Given the description of an element on the screen output the (x, y) to click on. 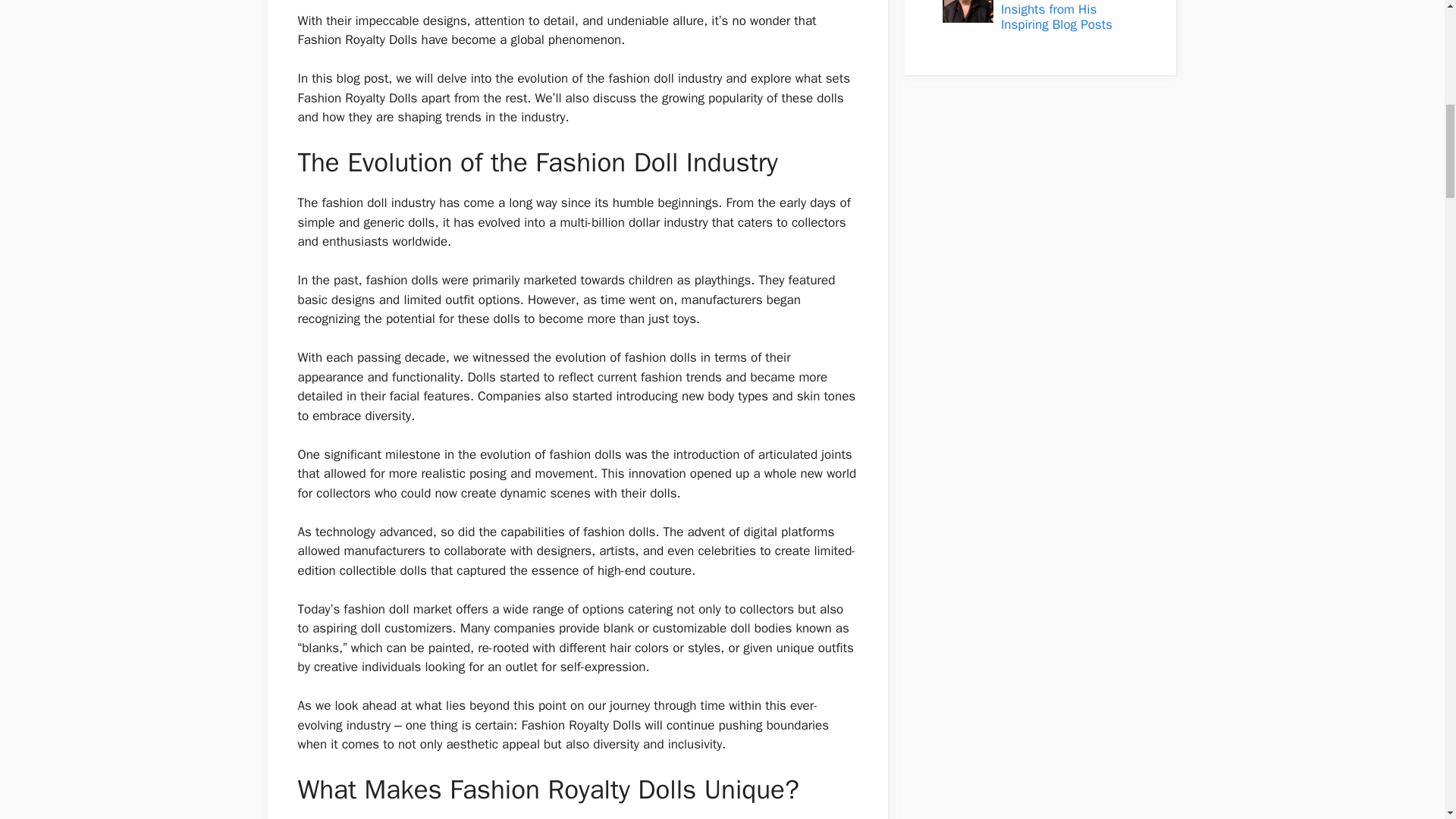
Scroll back to top (1406, 720)
